Given the description of an element on the screen output the (x, y) to click on. 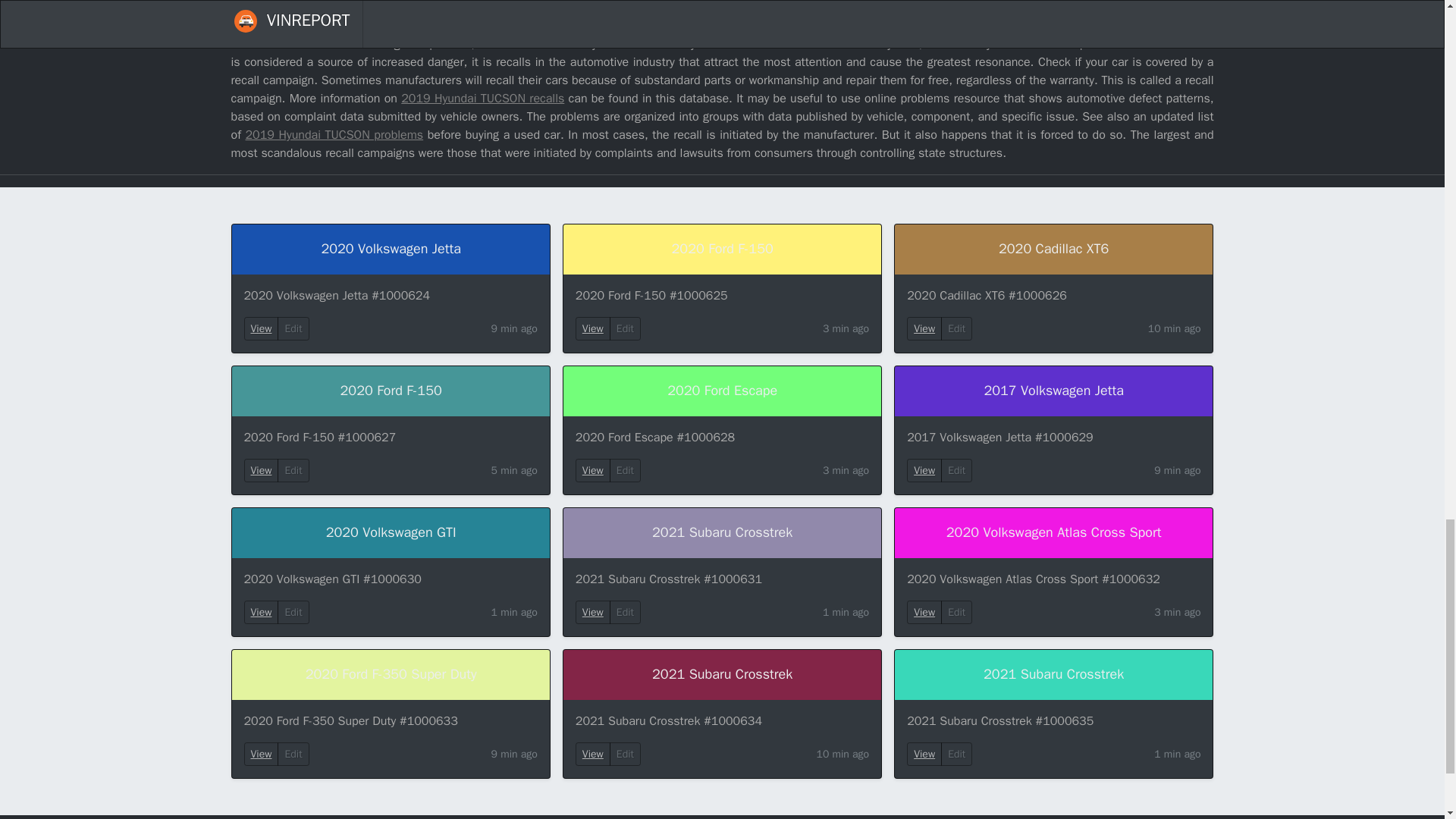
View (593, 328)
View (592, 753)
Edit (956, 612)
Edit (956, 470)
View (261, 753)
2020 Ford Escape (721, 391)
View (261, 328)
View (260, 612)
2019 Hyundai TUCSON recalls (482, 98)
2019 Hyundai TUCSON recalls (482, 98)
View (260, 470)
Edit (956, 328)
2020 Ford F-150 (721, 249)
2020 Volkswagen GTI (390, 532)
2021 Subaru Crosstrek (721, 532)
